Given the description of an element on the screen output the (x, y) to click on. 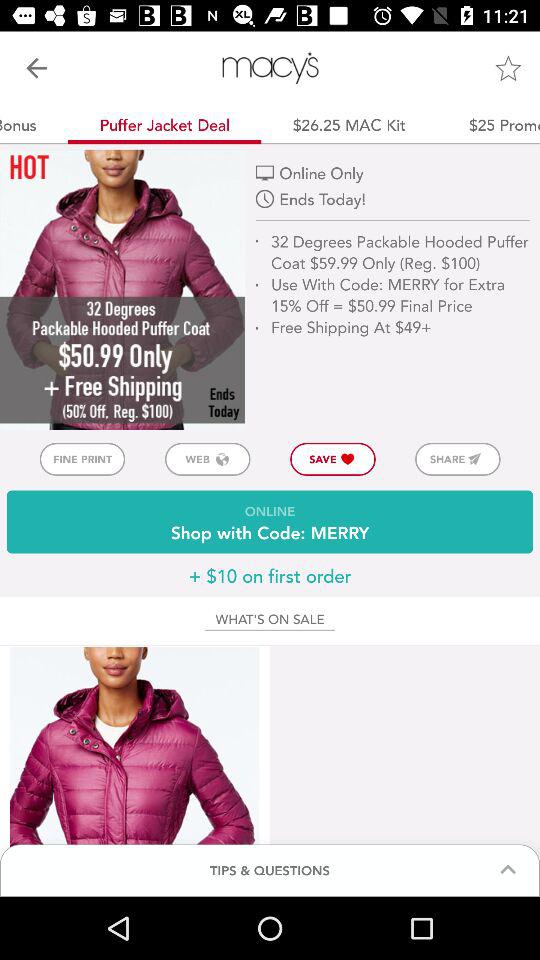
turn on the item above online shop with button (82, 458)
